Given the description of an element on the screen output the (x, y) to click on. 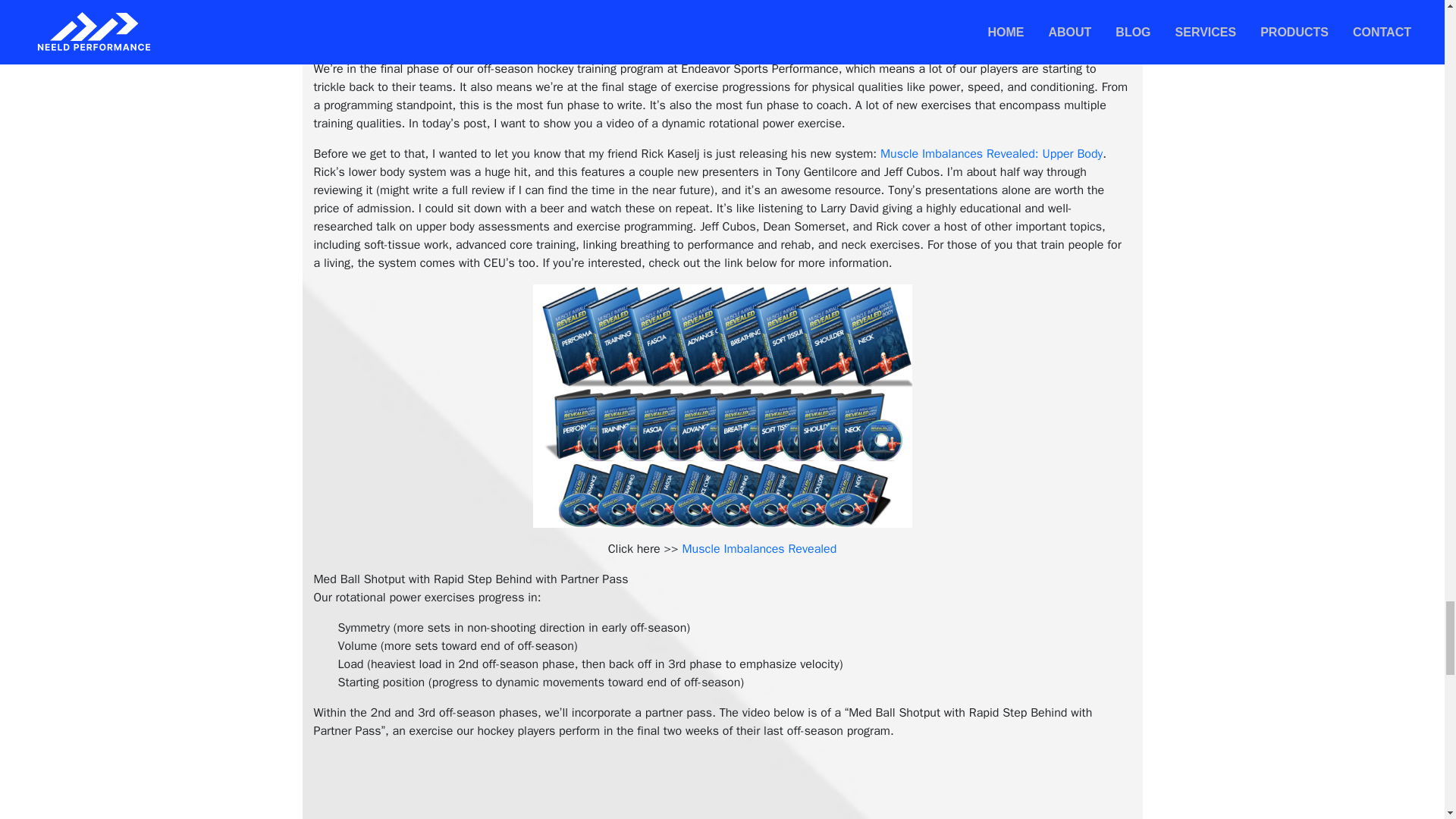
Muscle Imbalances Revealed (758, 548)
Muscle Imbalances Revealed: Upper Body (991, 153)
Muscle Imbalances Revealed: Upper Body (991, 153)
